Given the description of an element on the screen output the (x, y) to click on. 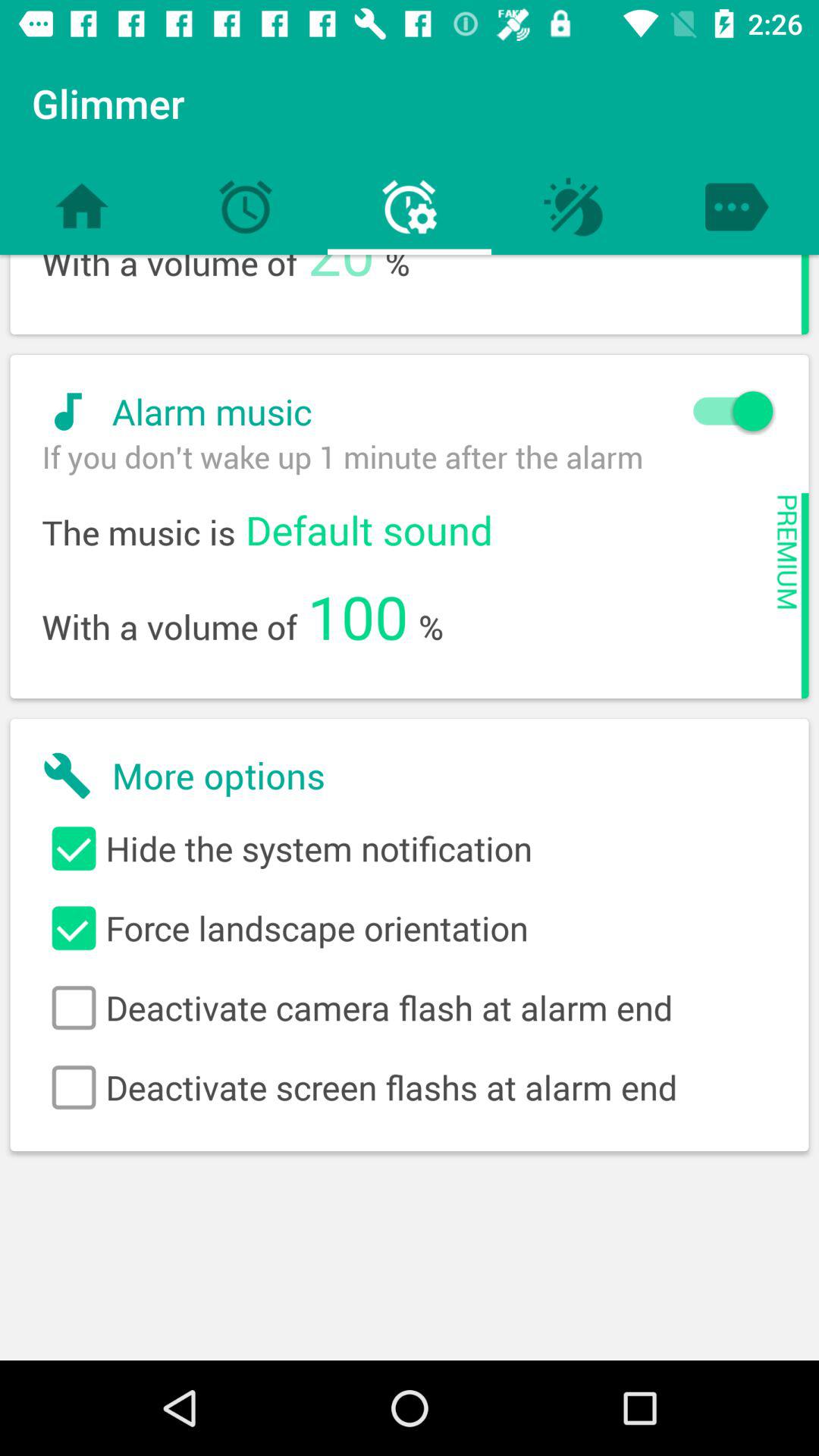
open item next to with a volume item (357, 616)
